Given the description of an element on the screen output the (x, y) to click on. 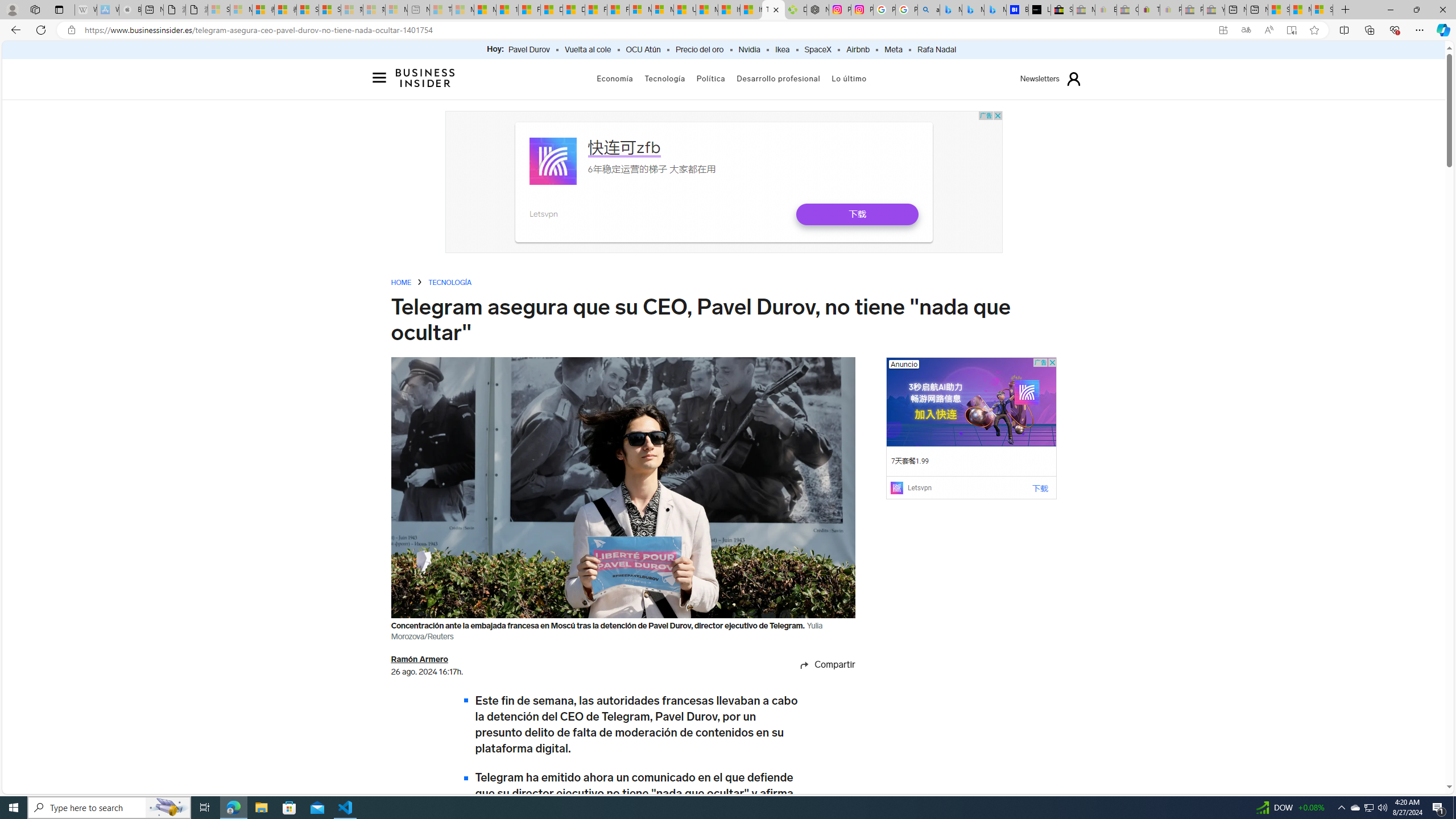
Microsoft Services Agreement - Sleeping (241, 9)
Selling on eBay | Electronics, Fashion, Home & Garden | eBay (1061, 9)
Share icon Compartir (815, 665)
Yard, Garden & Outdoor Living - Sleeping (1214, 9)
Telegram (815, 792)
Linkedin (815, 770)
Microsoft Bing Travel - Flights from Hong Kong to Bangkok (950, 9)
Vuelta al cole (587, 49)
